Given the description of an element on the screen output the (x, y) to click on. 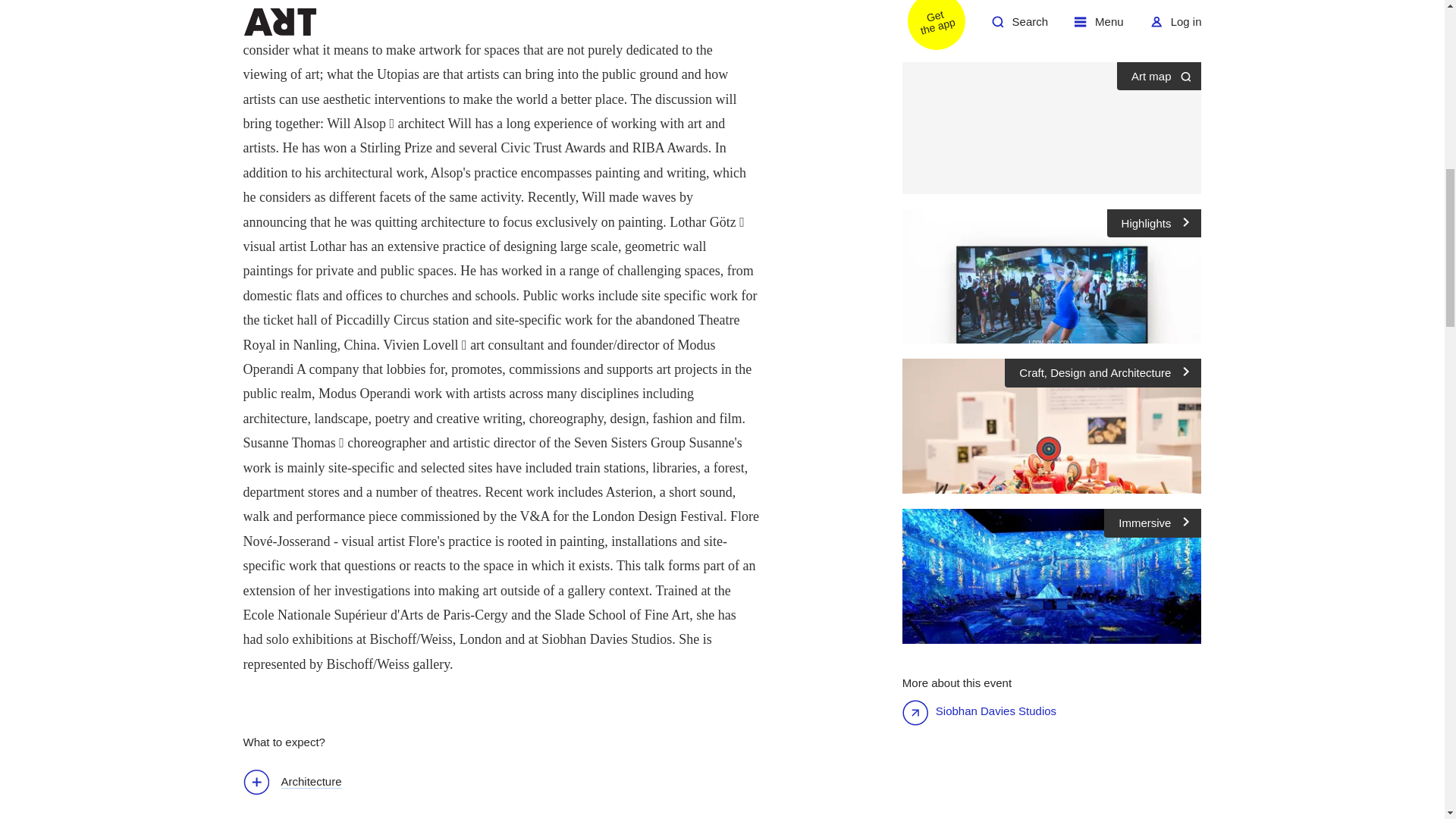
347 current events (1001, 2)
Architecture (299, 783)
previewing today, (1024, 18)
